Given the description of an element on the screen output the (x, y) to click on. 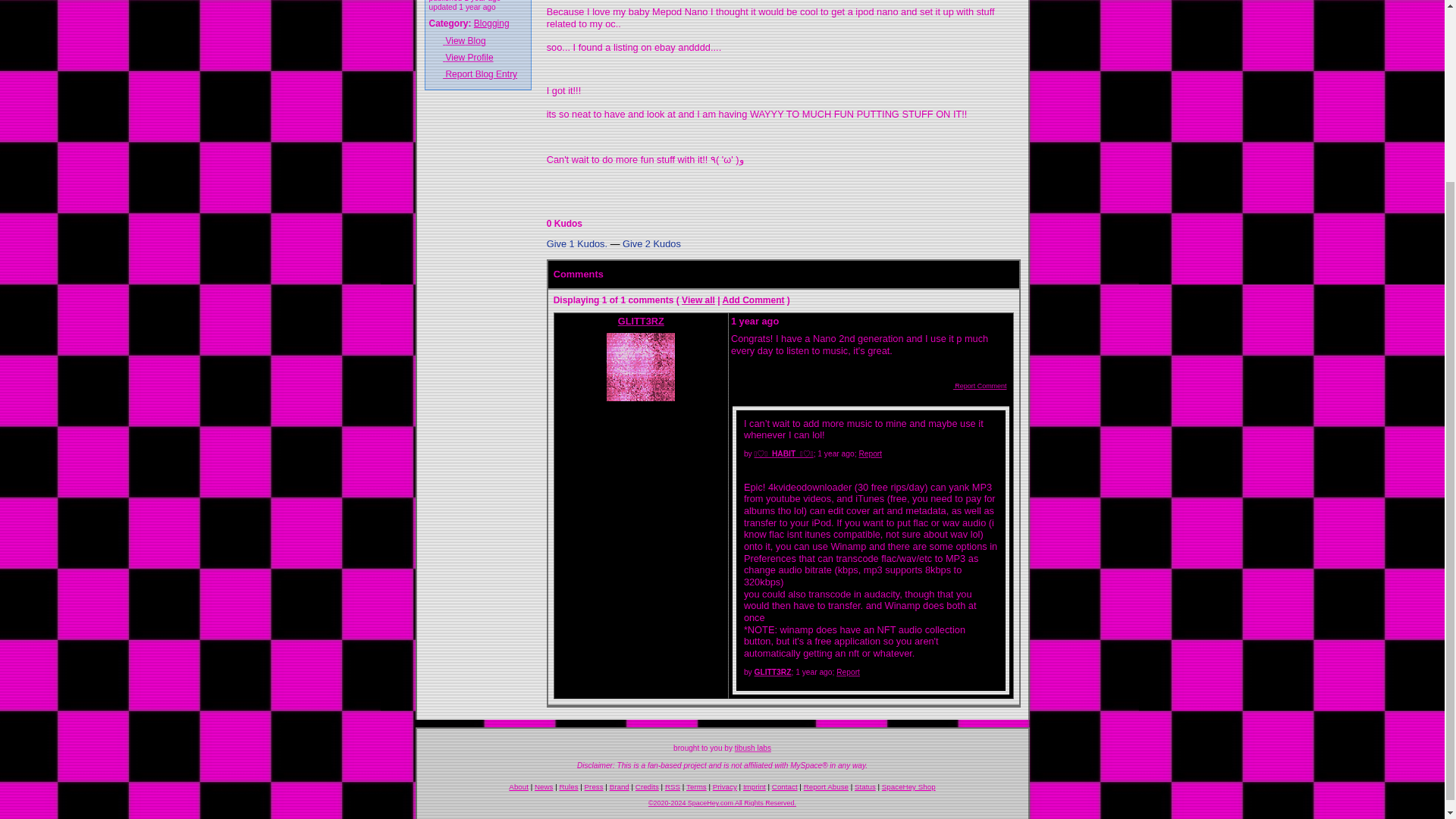
Add Comment (753, 299)
Give 2 Kudos (652, 244)
Report Blog Entry (478, 73)
Rules (568, 786)
View all (697, 299)
GLITT3RZ (640, 359)
News (543, 786)
Report (870, 453)
GLITT3RZ (773, 672)
Blogging (491, 23)
View Blog (478, 40)
Report (847, 672)
Give 1 Kudos. (577, 244)
Report Comment (974, 385)
About (518, 786)
